Given the description of an element on the screen output the (x, y) to click on. 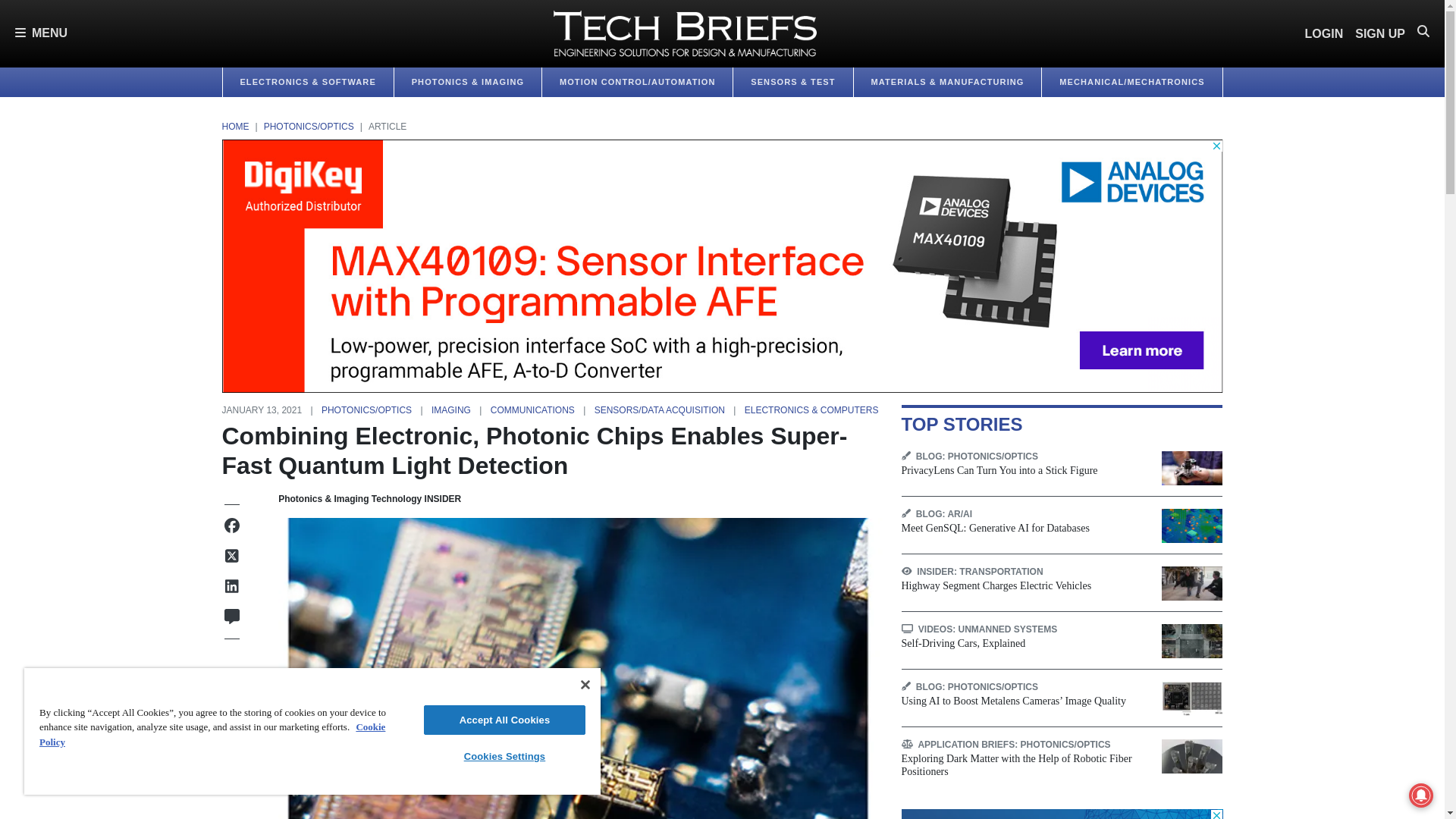
3rd party ad content (1062, 814)
LOGIN (1323, 32)
MENU (41, 33)
SIGN UP (1379, 32)
